Given the description of an element on the screen output the (x, y) to click on. 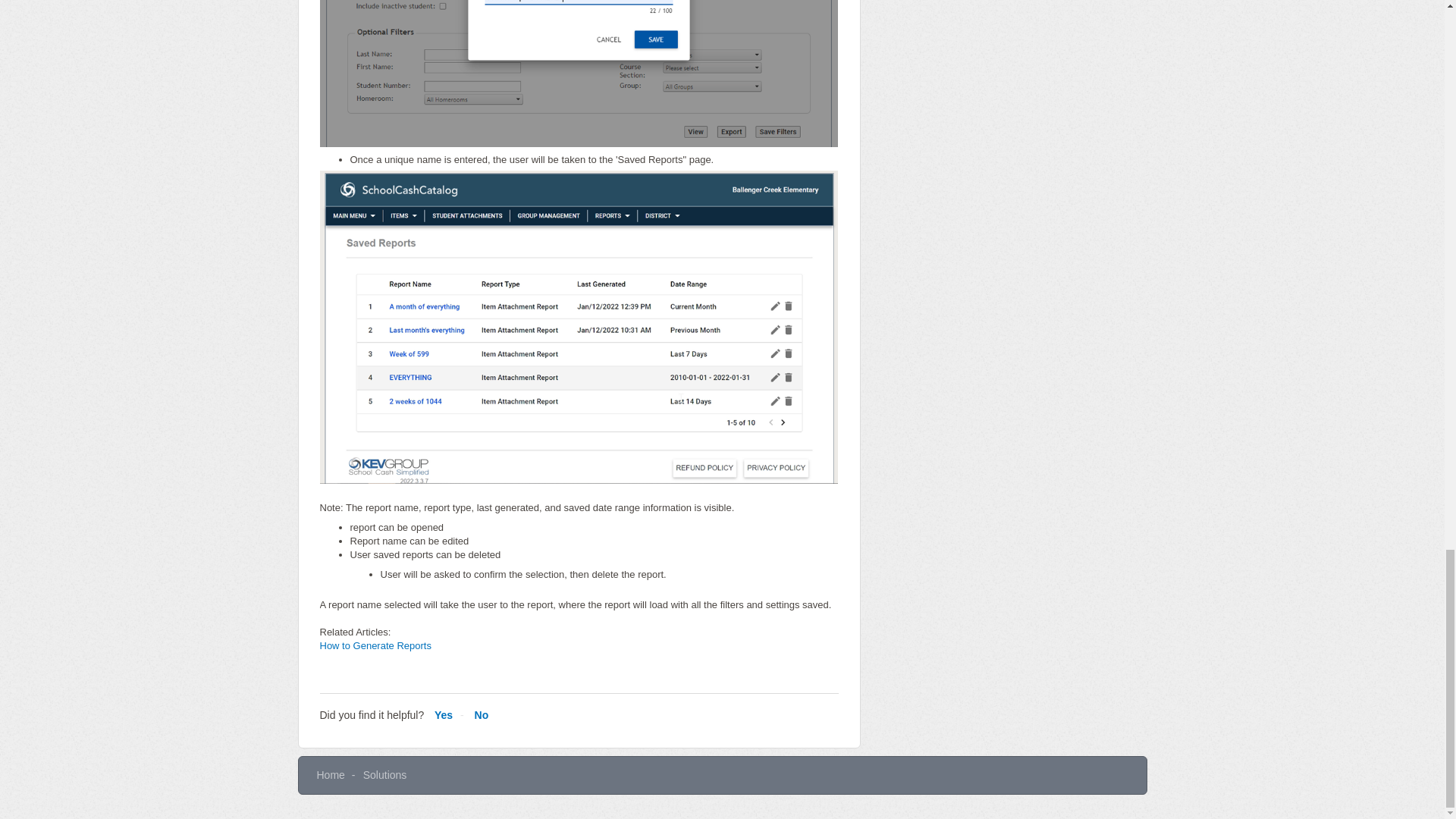
How to Generate Reports (375, 645)
Home (331, 775)
Solutions (384, 775)
